Given the description of an element on the screen output the (x, y) to click on. 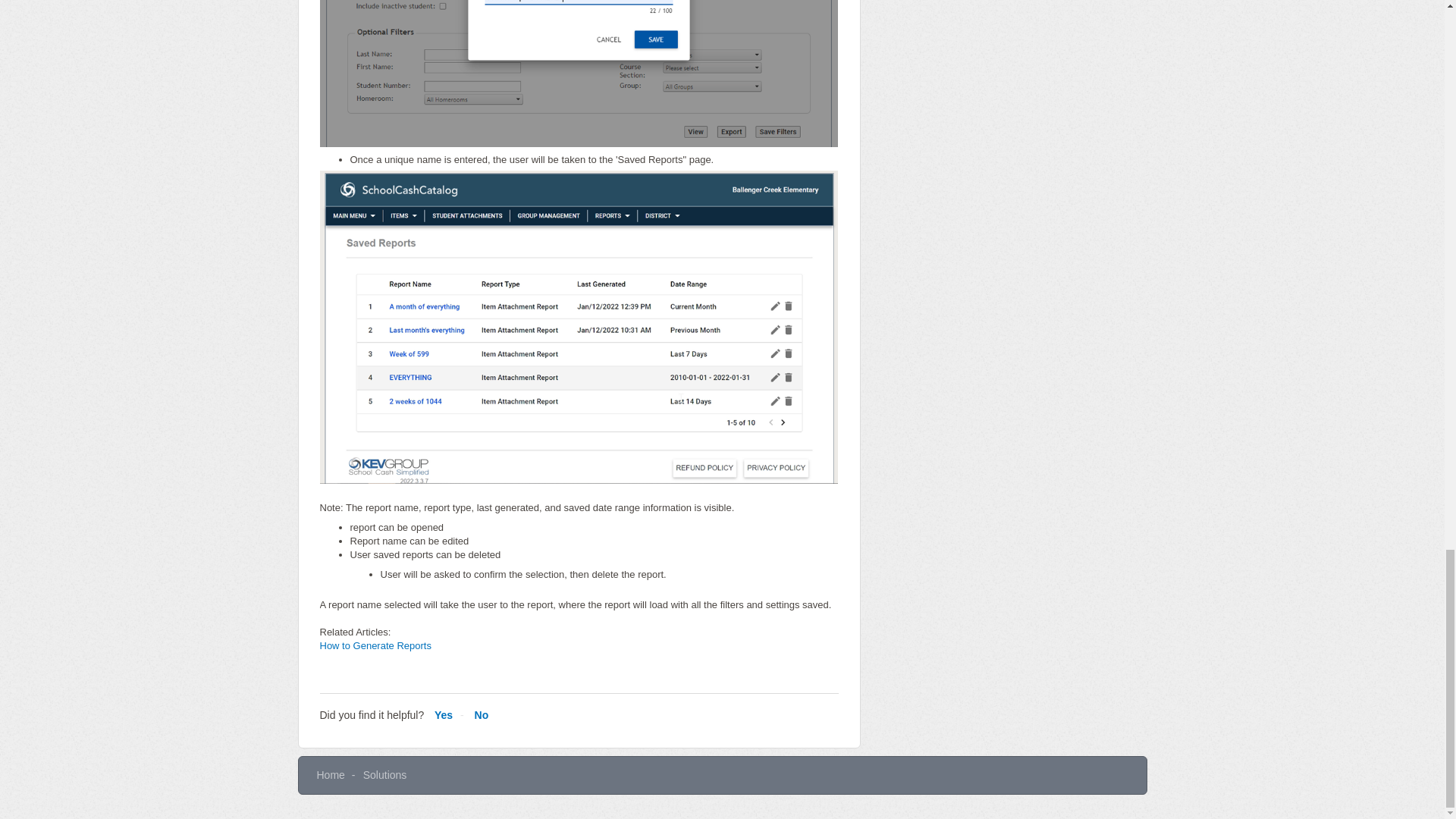
How to Generate Reports (375, 645)
Home (331, 775)
Solutions (384, 775)
